Given the description of an element on the screen output the (x, y) to click on. 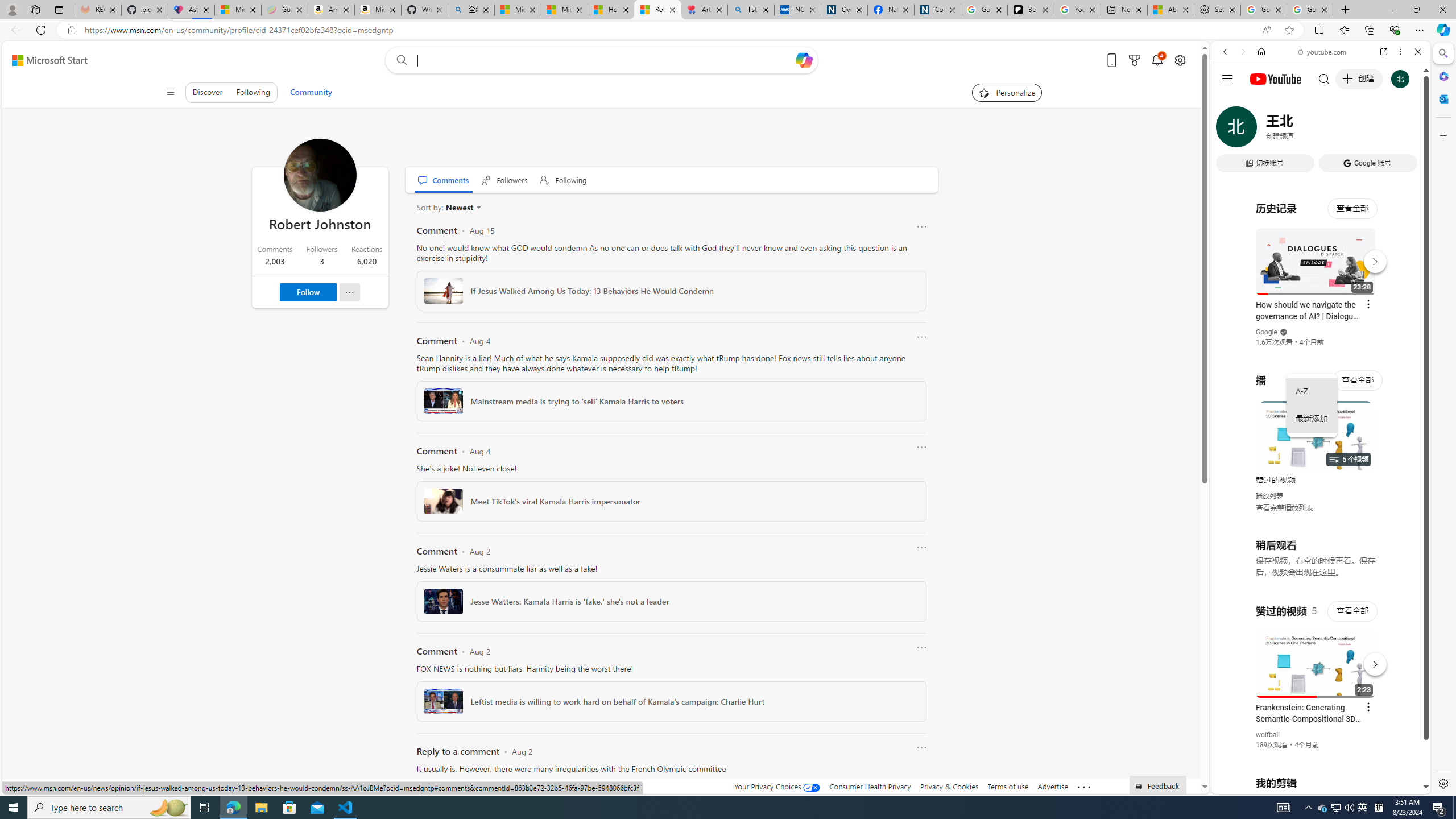
A-Z (1311, 391)
Community (310, 92)
